Given the description of an element on the screen output the (x, y) to click on. 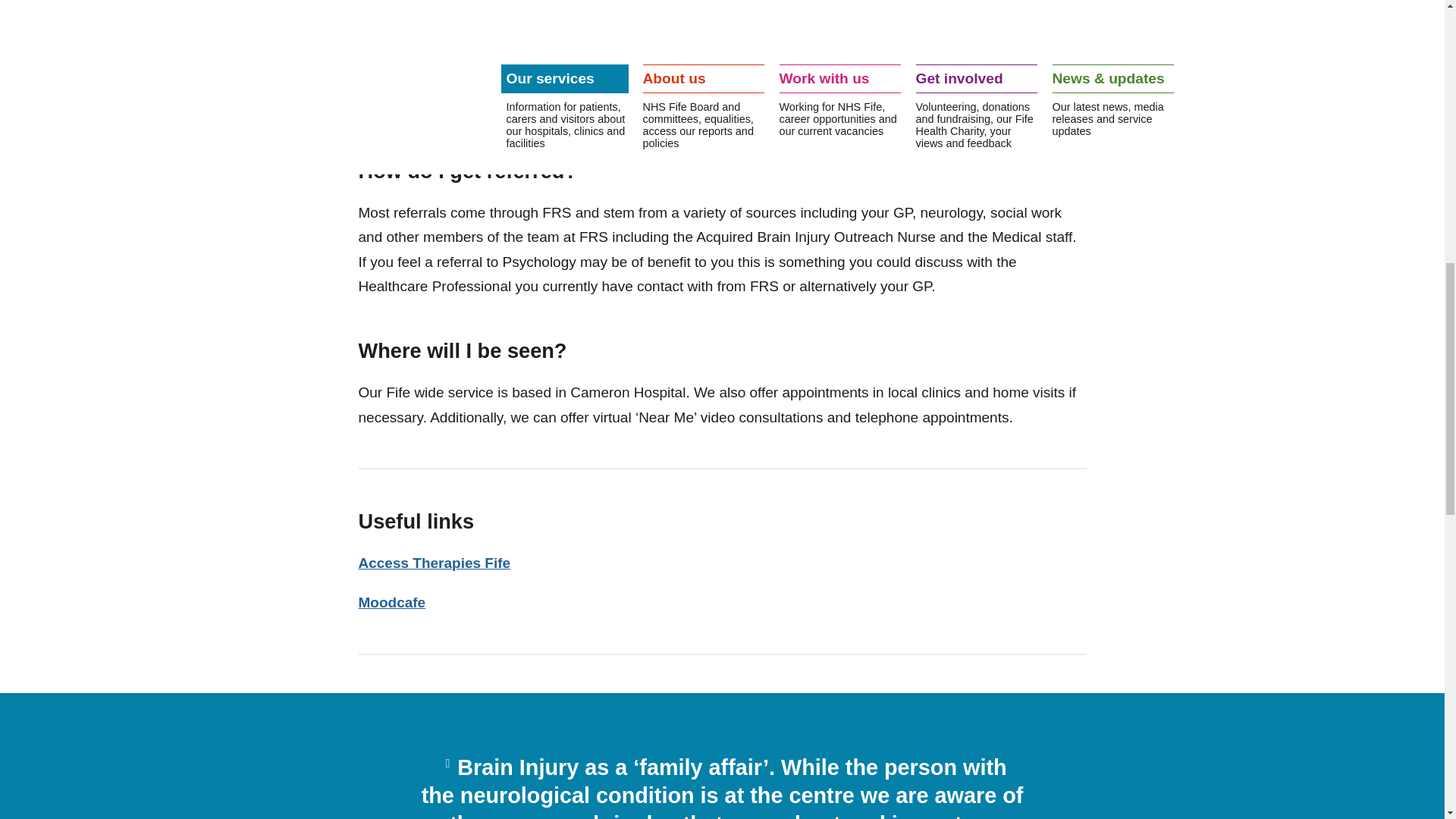
Moodcafe (391, 602)
Access Therapies Fife (434, 562)
